Given the description of an element on the screen output the (x, y) to click on. 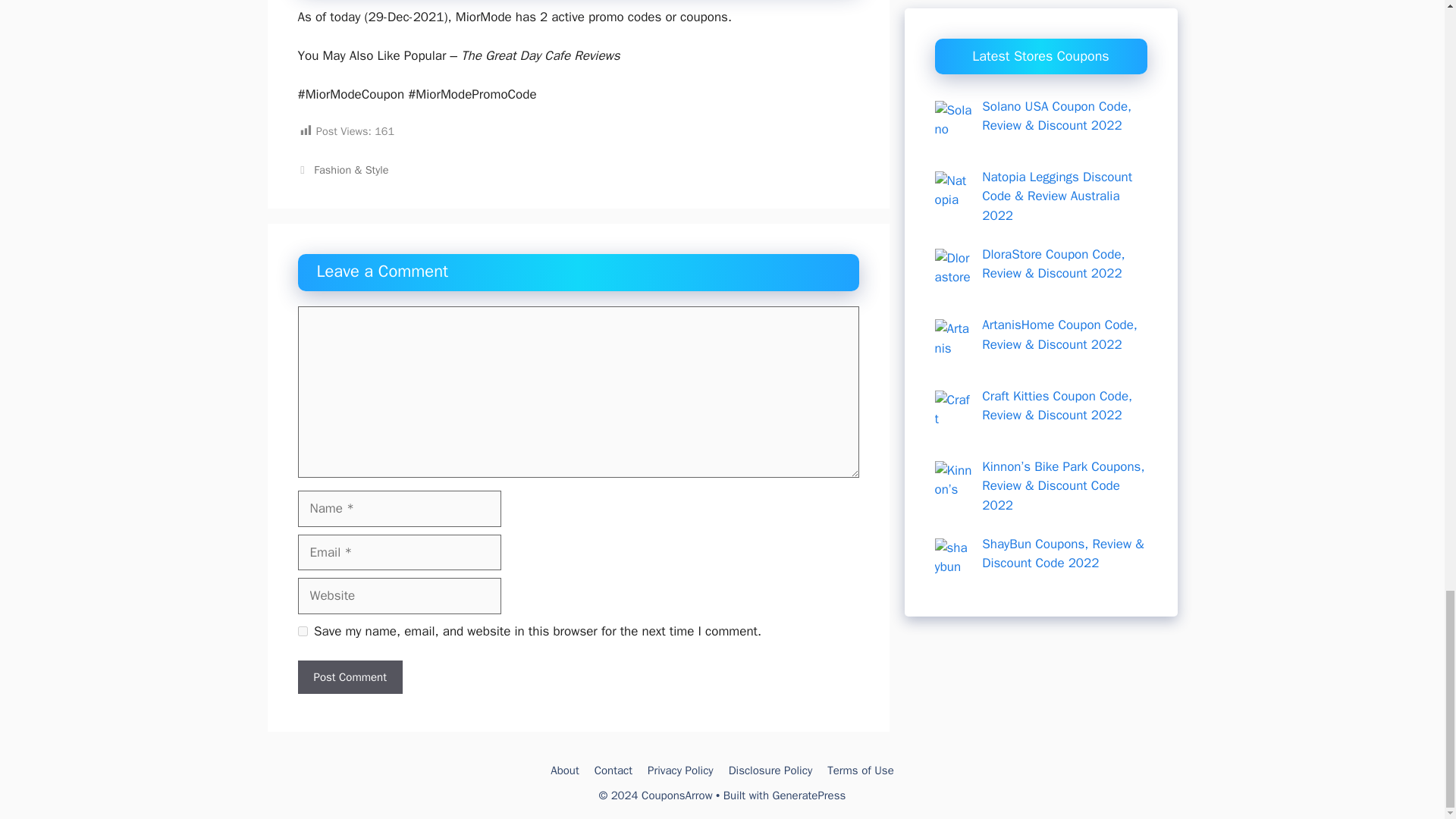
About (564, 770)
Contact (612, 770)
Post Comment (349, 677)
The Great Day Cafe Reviews (540, 55)
Post Comment (349, 677)
yes (302, 631)
